Given the description of an element on the screen output the (x, y) to click on. 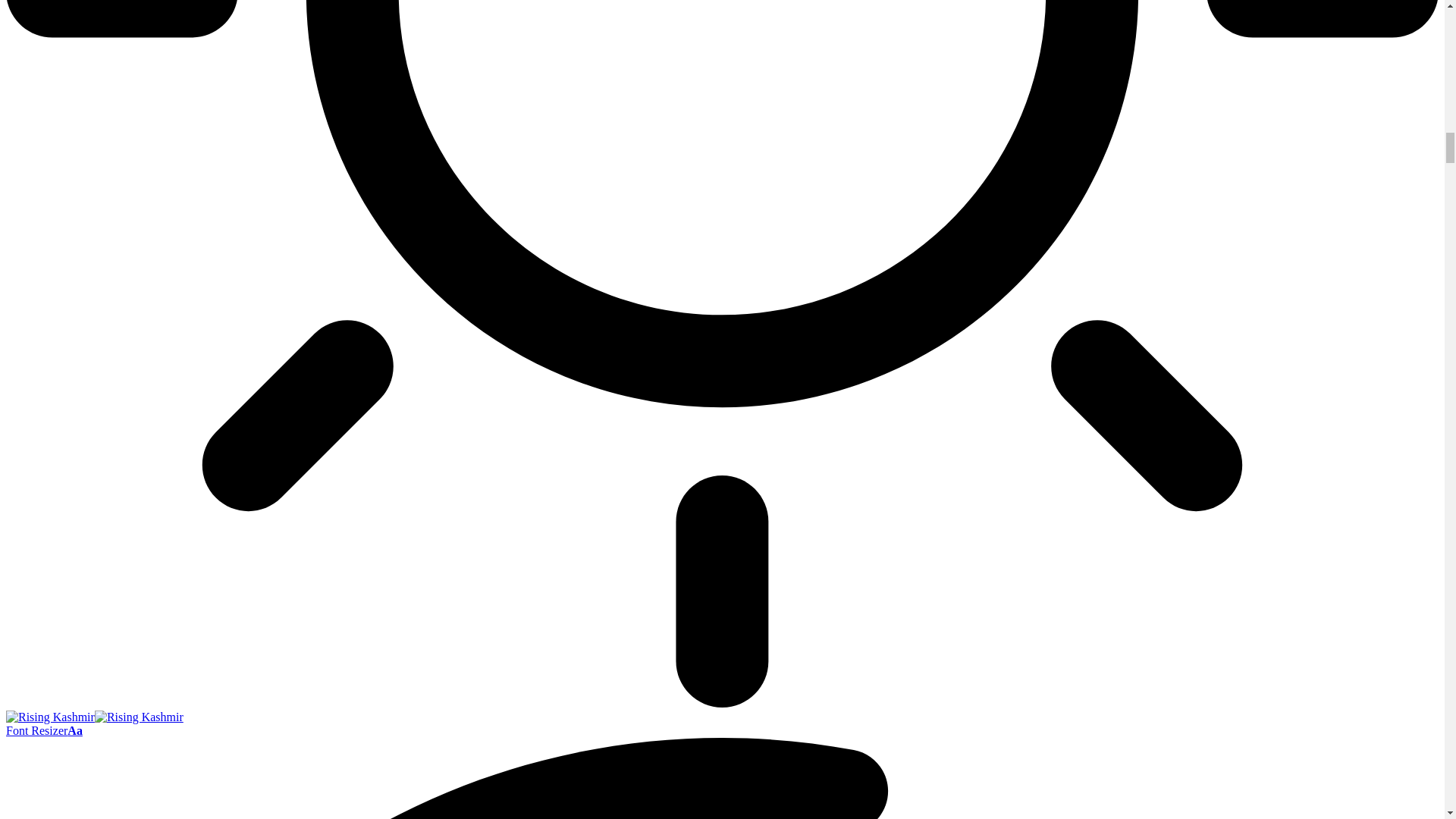
Rising Kashmir (94, 716)
